Given the description of an element on the screen output the (x, y) to click on. 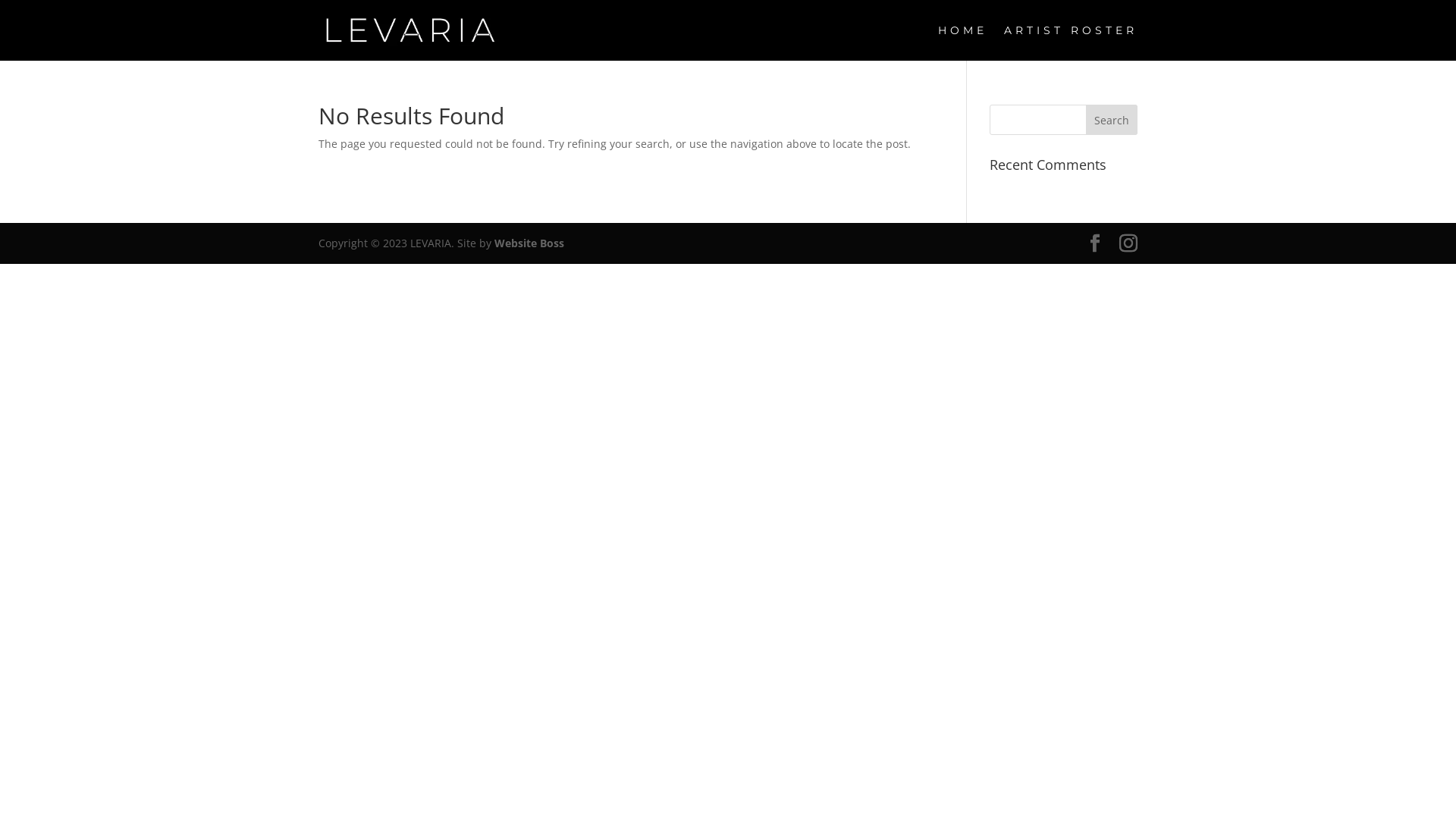
ARTIST ROSTER Element type: text (1070, 42)
Website Boss Element type: text (529, 242)
HOME Element type: text (962, 42)
Search Element type: text (1111, 119)
